Given the description of an element on the screen output the (x, y) to click on. 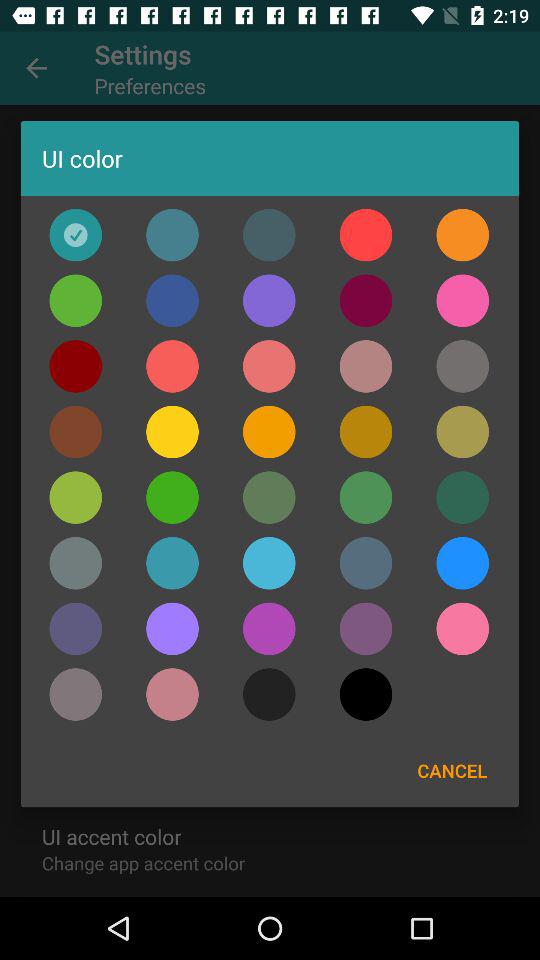
yellow colour fot the settings (269, 431)
